Given the description of an element on the screen output the (x, y) to click on. 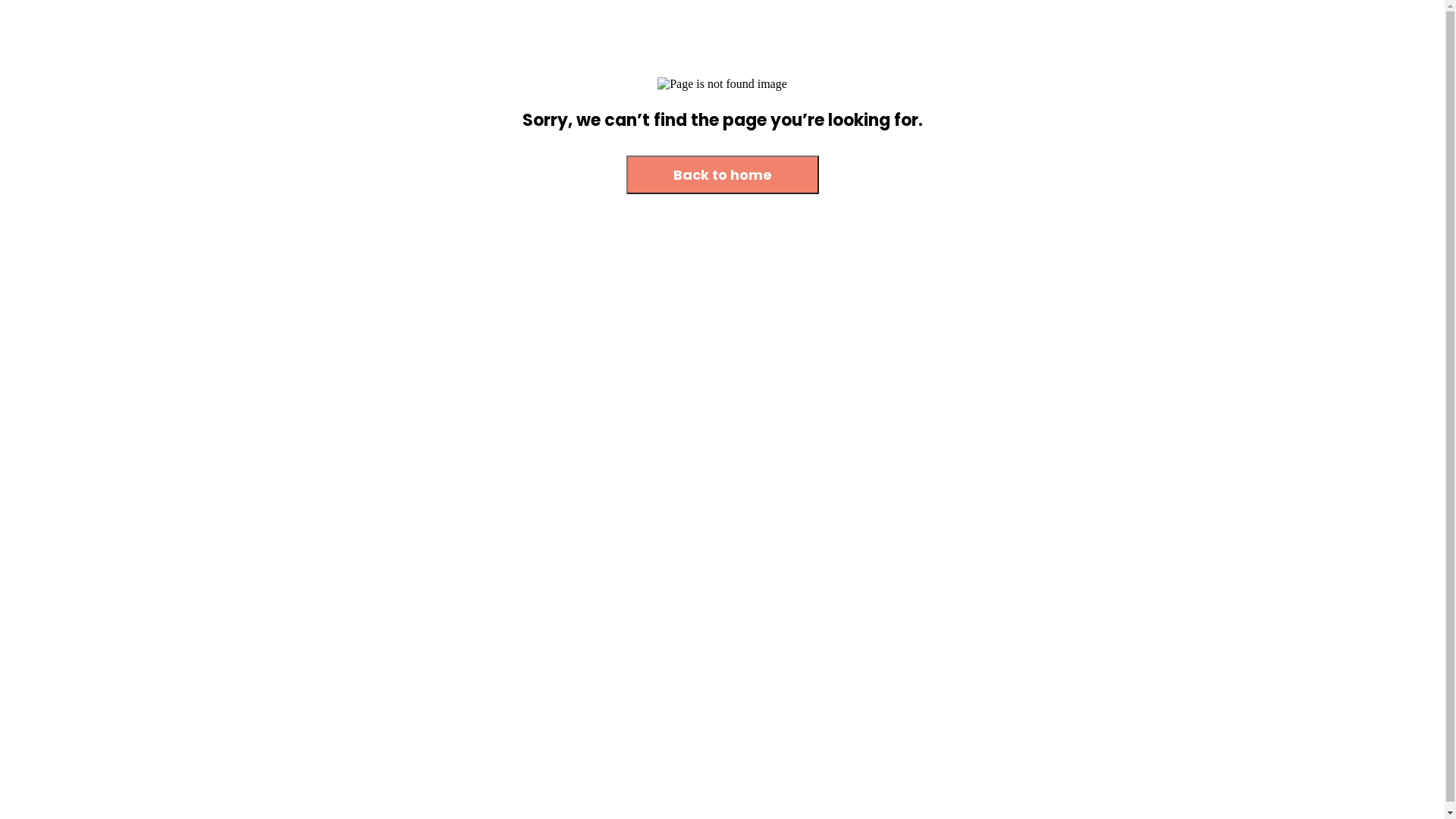
Back to home Element type: text (722, 175)
Back to home Element type: text (722, 174)
